Given the description of an element on the screen output the (x, y) to click on. 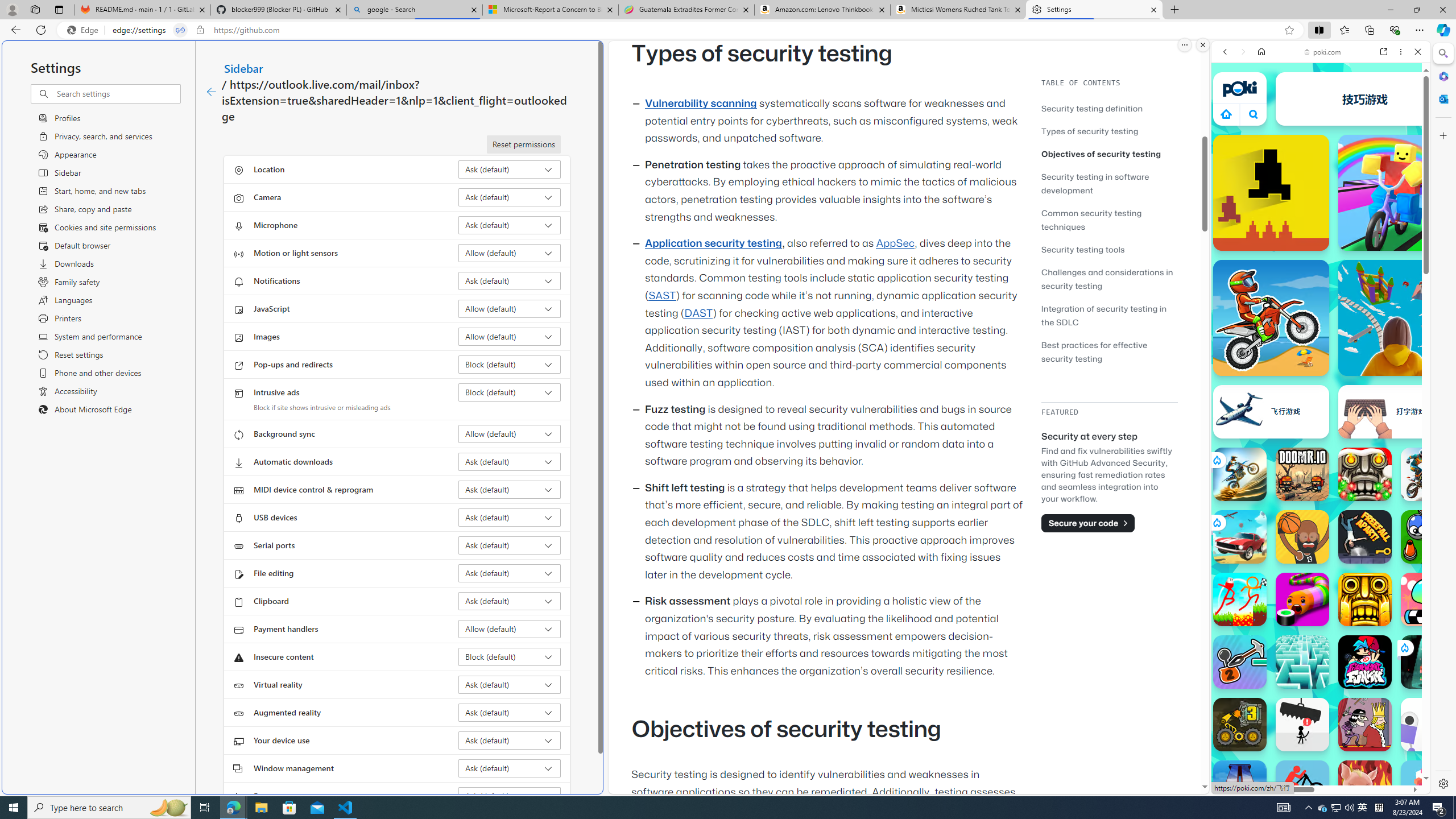
Sports Games (1320, 379)
Stunt Bike Extreme Stunt Bike Extreme (1239, 474)
Level Devil (1270, 192)
Moto X3M (1270, 317)
Go back to Sidebar page. (210, 91)
Trial Mania (1427, 474)
Maze: Path of Light Maze: Path of Light (1302, 661)
Stunt Paradise (1239, 536)
